Given the description of an element on the screen output the (x, y) to click on. 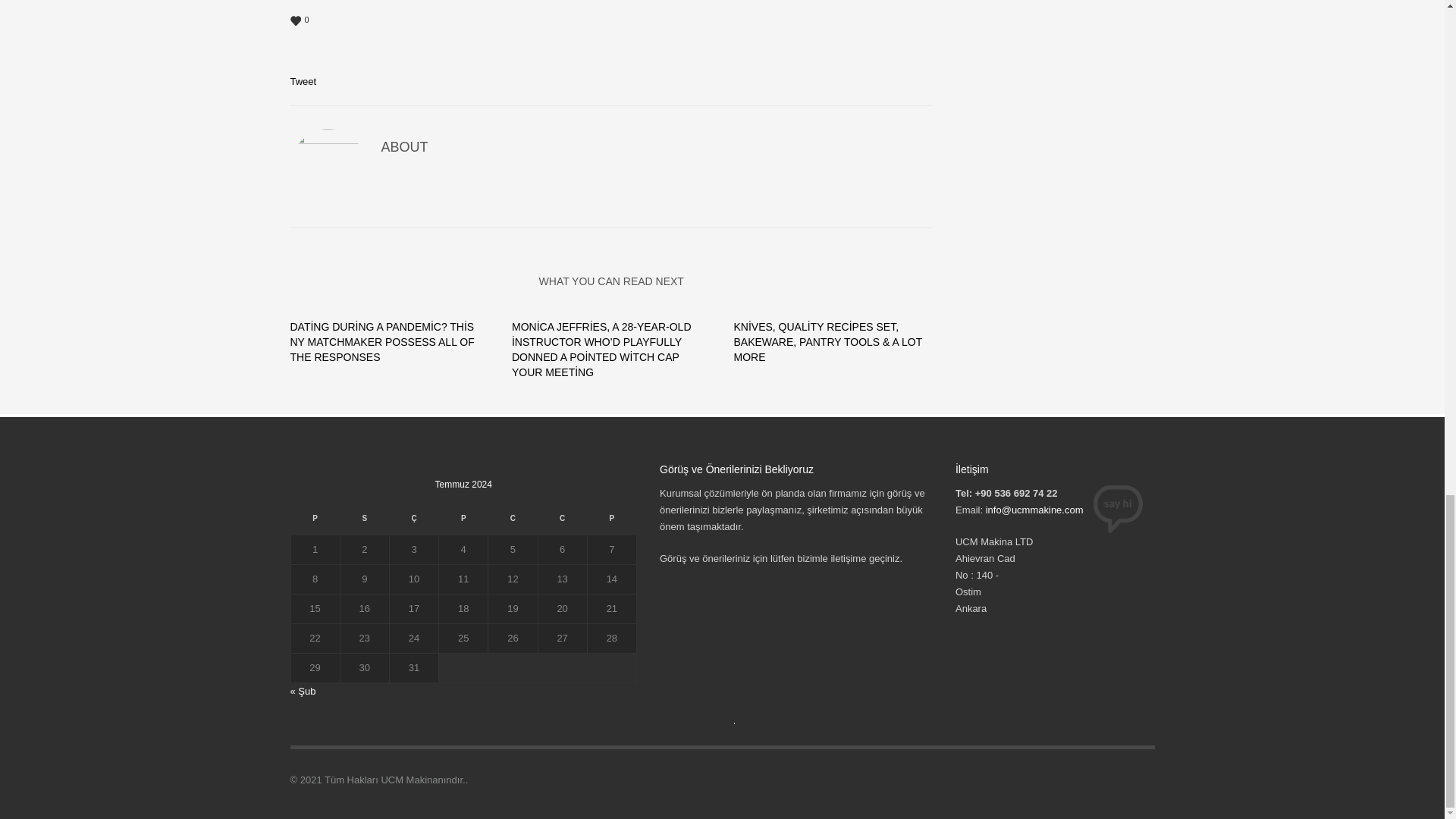
Pazartesi (314, 522)
Pazar (611, 522)
Cumartesi (561, 522)
Cuma (512, 522)
Tweet (302, 81)
0 (611, 20)
